Given the description of an element on the screen output the (x, y) to click on. 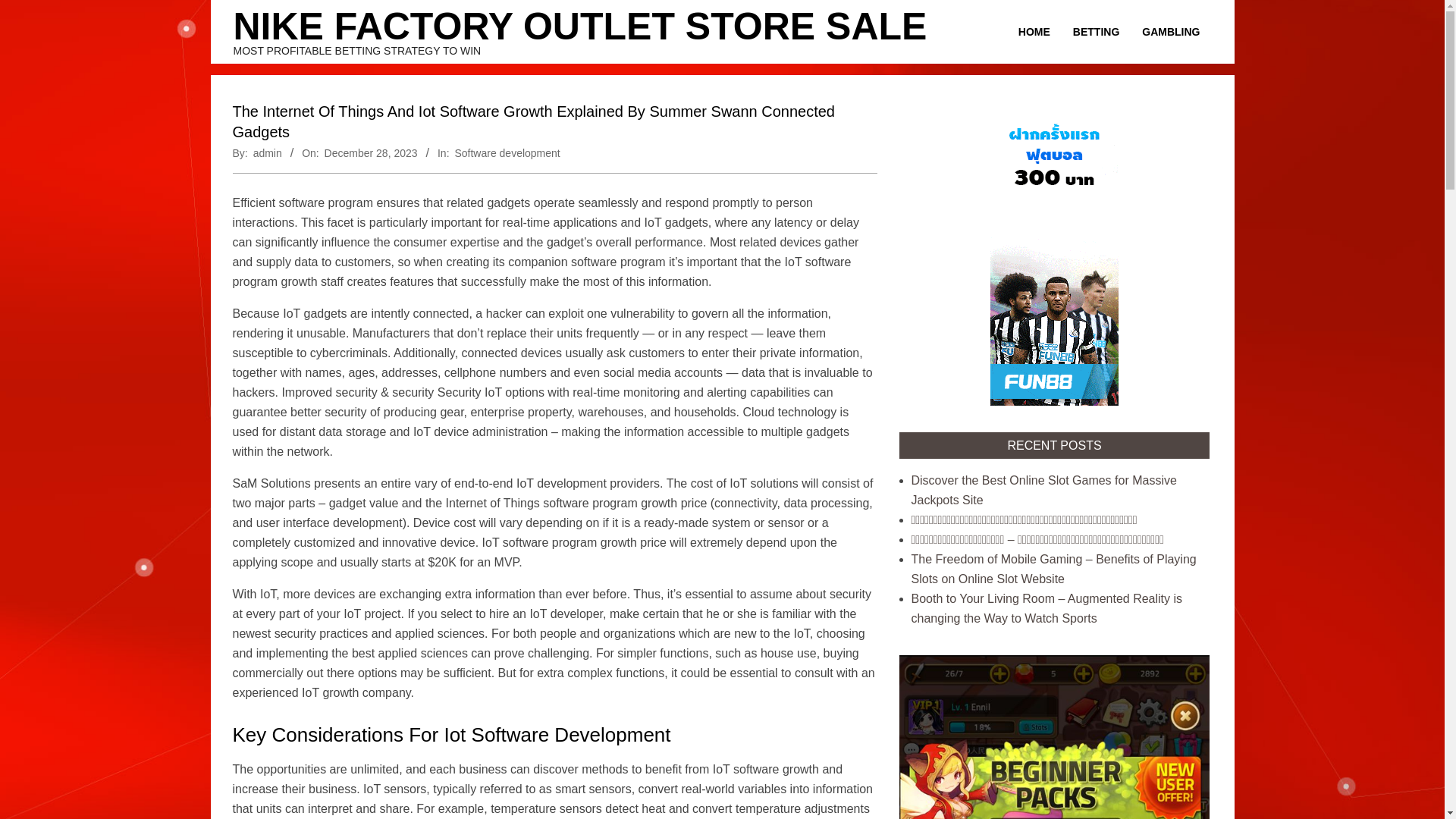
admin (267, 152)
Posts by admin (267, 152)
NIKE FACTORY OUTLET STORE SALE (579, 25)
HOME (1034, 31)
Thursday, December 28, 2023, 7:09 pm (370, 152)
Software development (506, 152)
GAMBLING (1171, 31)
BETTING (1096, 31)
